Given the description of an element on the screen output the (x, y) to click on. 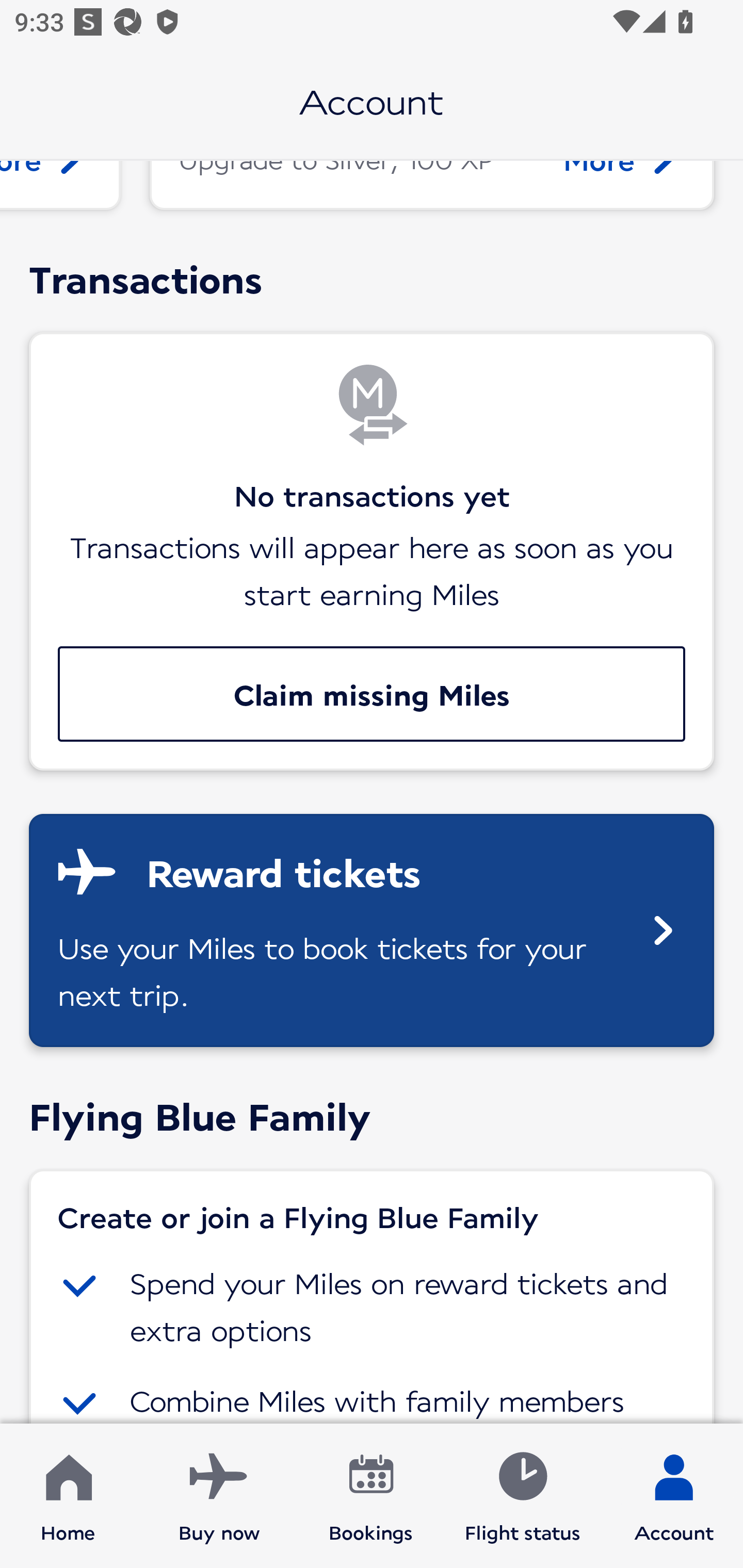
Claim missing Miles (371, 693)
Home (68, 1495)
Buy now (219, 1495)
Bookings (370, 1495)
Flight status (522, 1495)
